Given the description of an element on the screen output the (x, y) to click on. 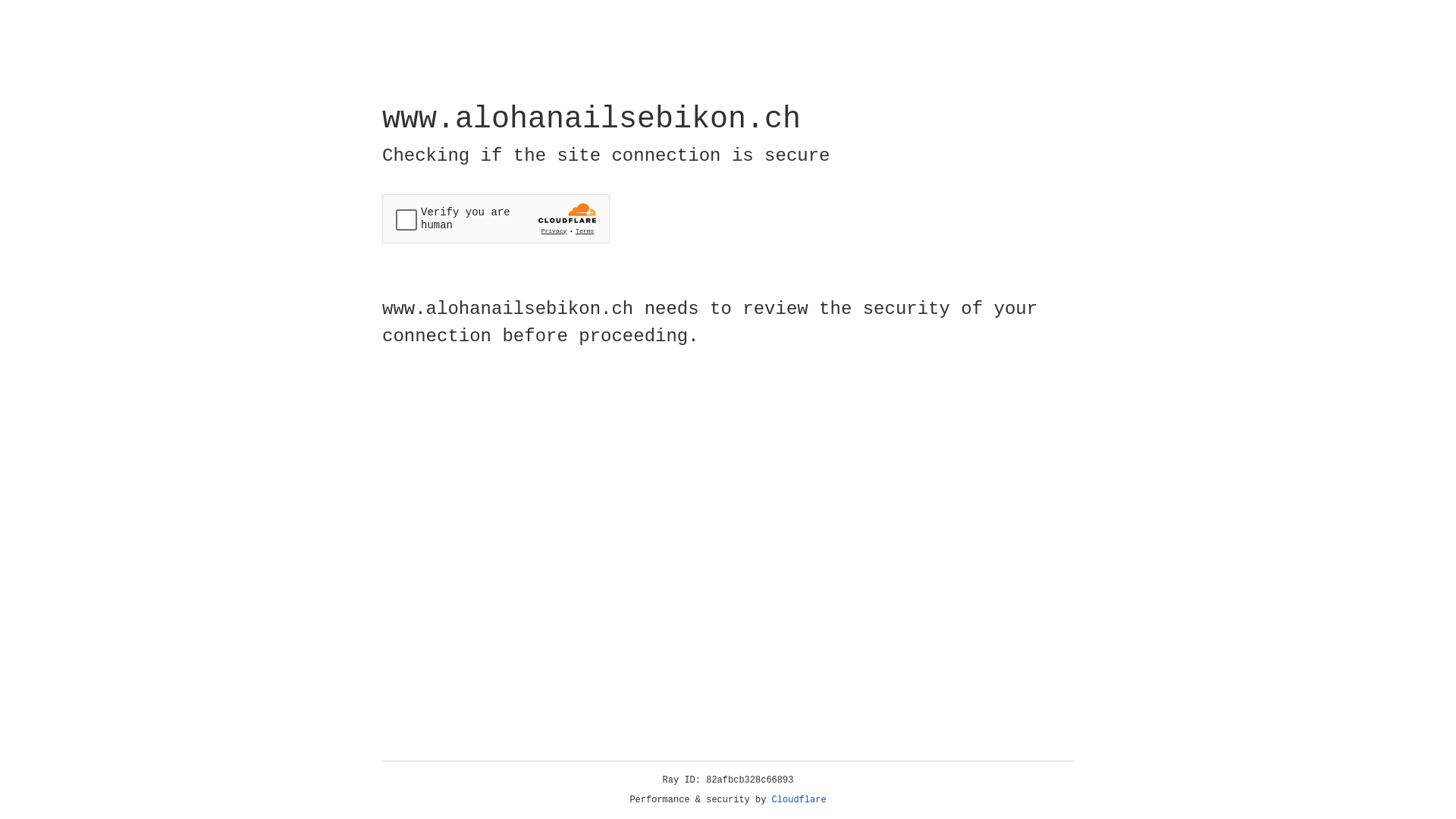
Widget containing a Cloudflare security challenge Element type: hover (495, 218)
Cloudflare Element type: text (798, 799)
